Given the description of an element on the screen output the (x, y) to click on. 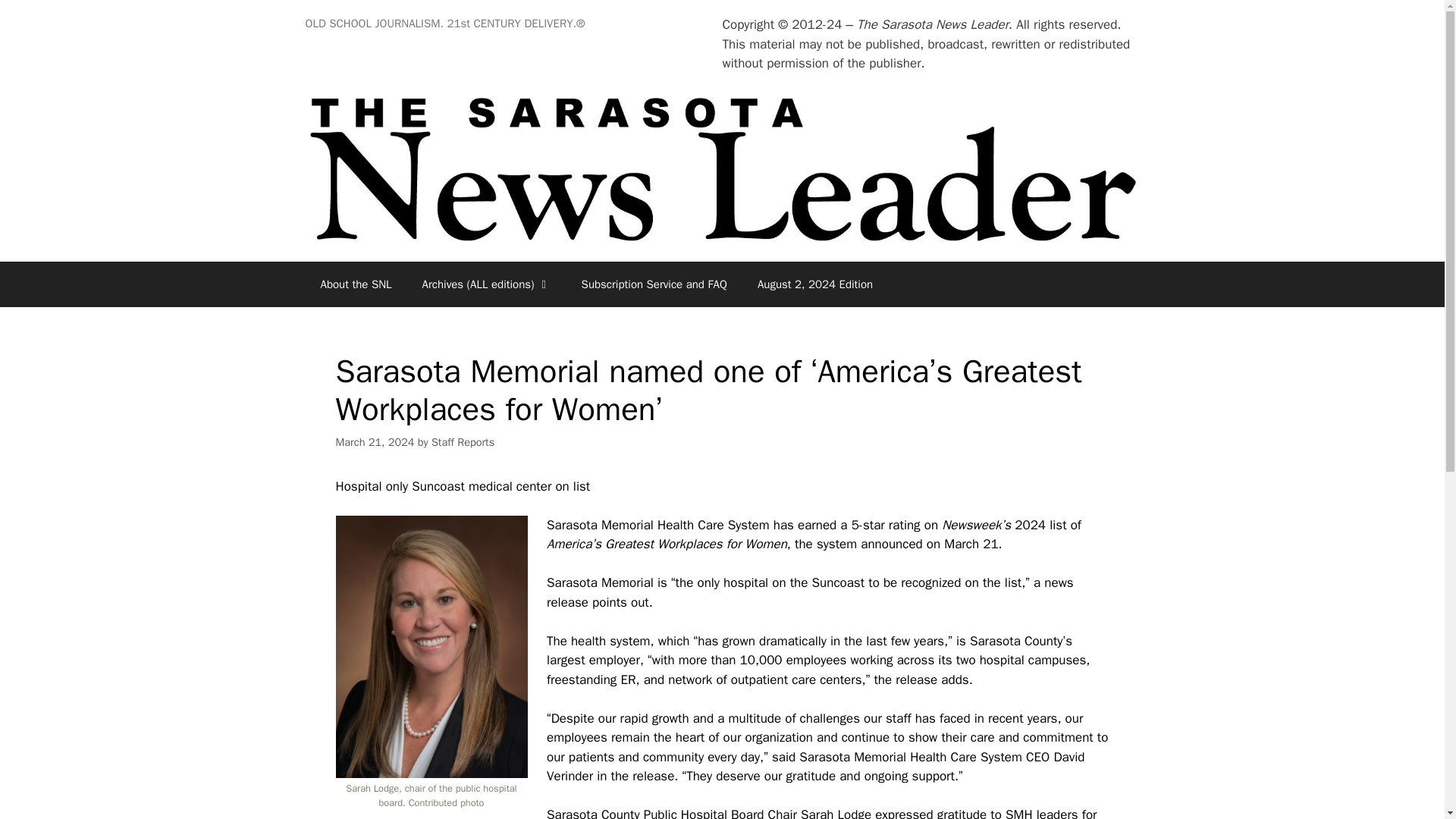
View all posts by Staff Reports (462, 441)
About the SNL (355, 284)
